Given the description of an element on the screen output the (x, y) to click on. 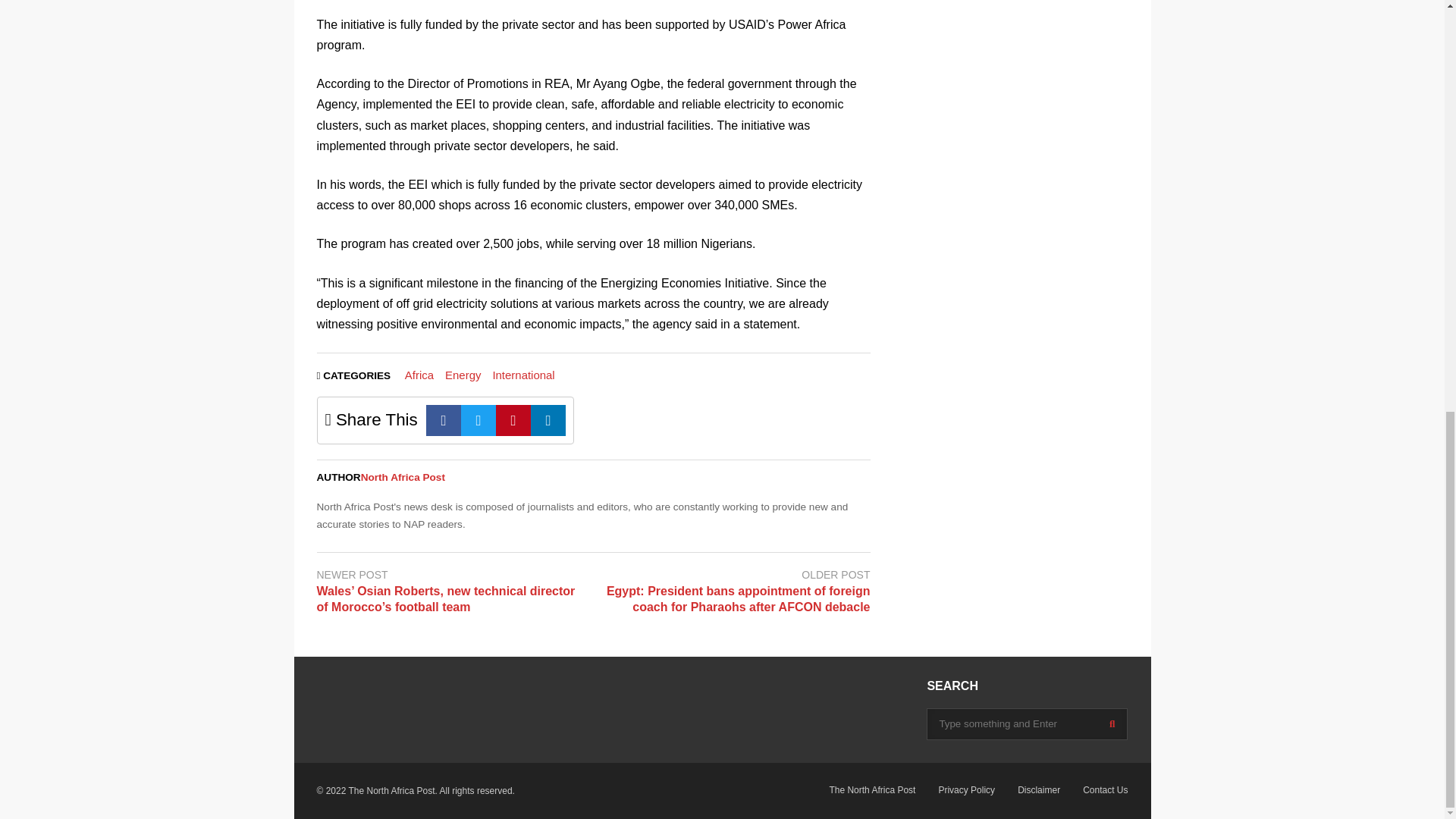
Linkedin (548, 419)
Facebook (443, 419)
Pinterest (513, 419)
Twitter (478, 419)
